Given the description of an element on the screen output the (x, y) to click on. 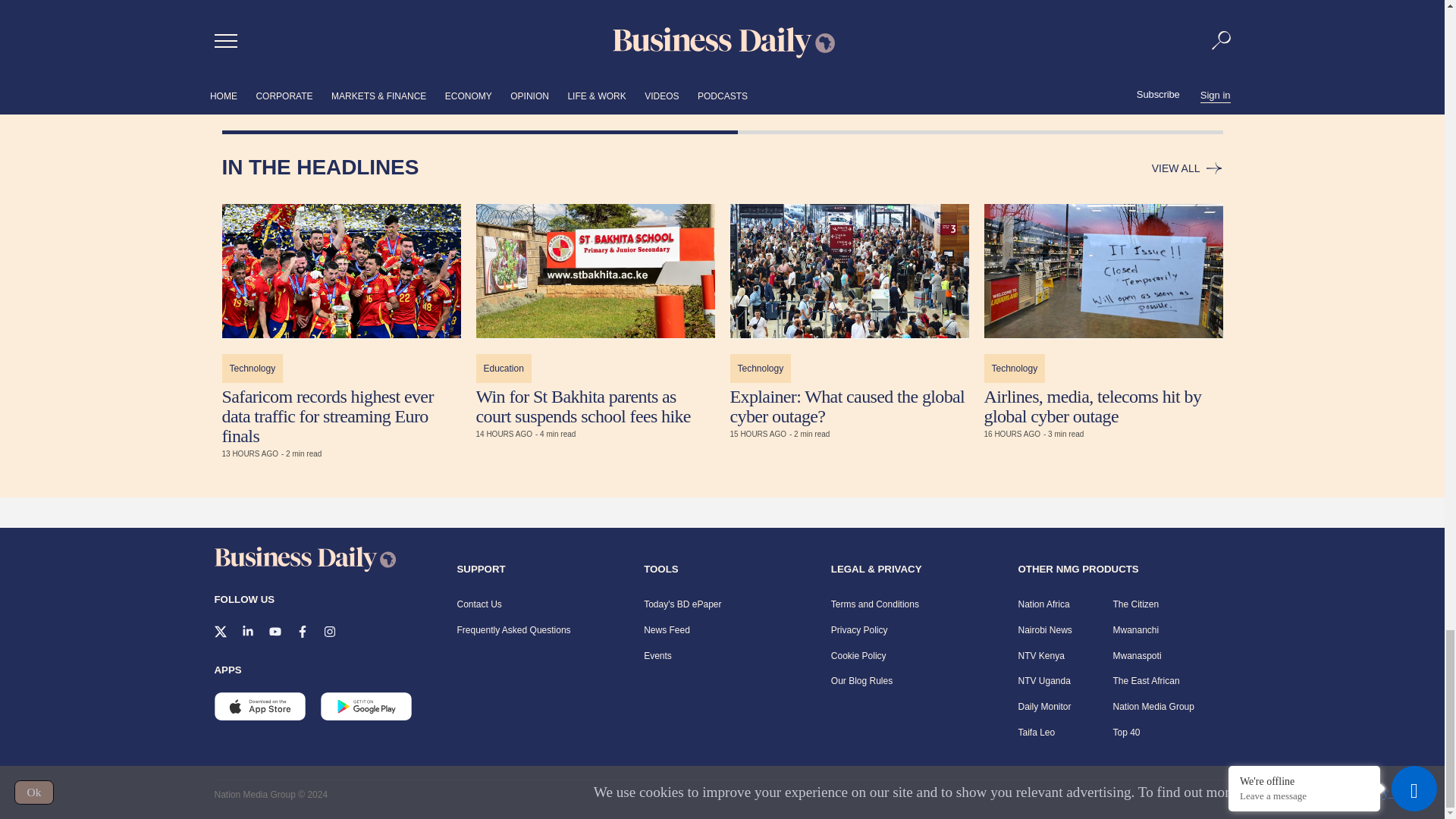
The Citizen (1135, 604)
Nation Africa (1043, 604)
Download app on App Store (365, 718)
Cookie Policy (858, 655)
Terms and Conditions (874, 604)
Frequently Asked Questions (513, 630)
Nairobi News (1044, 630)
News Feed (666, 630)
Our Blog Rules  (861, 681)
Today's BD ePaper (681, 604)
Privacy Policy (859, 630)
Events (657, 655)
Download app on Google Play (259, 718)
Contact Us (478, 604)
